Given the description of an element on the screen output the (x, y) to click on. 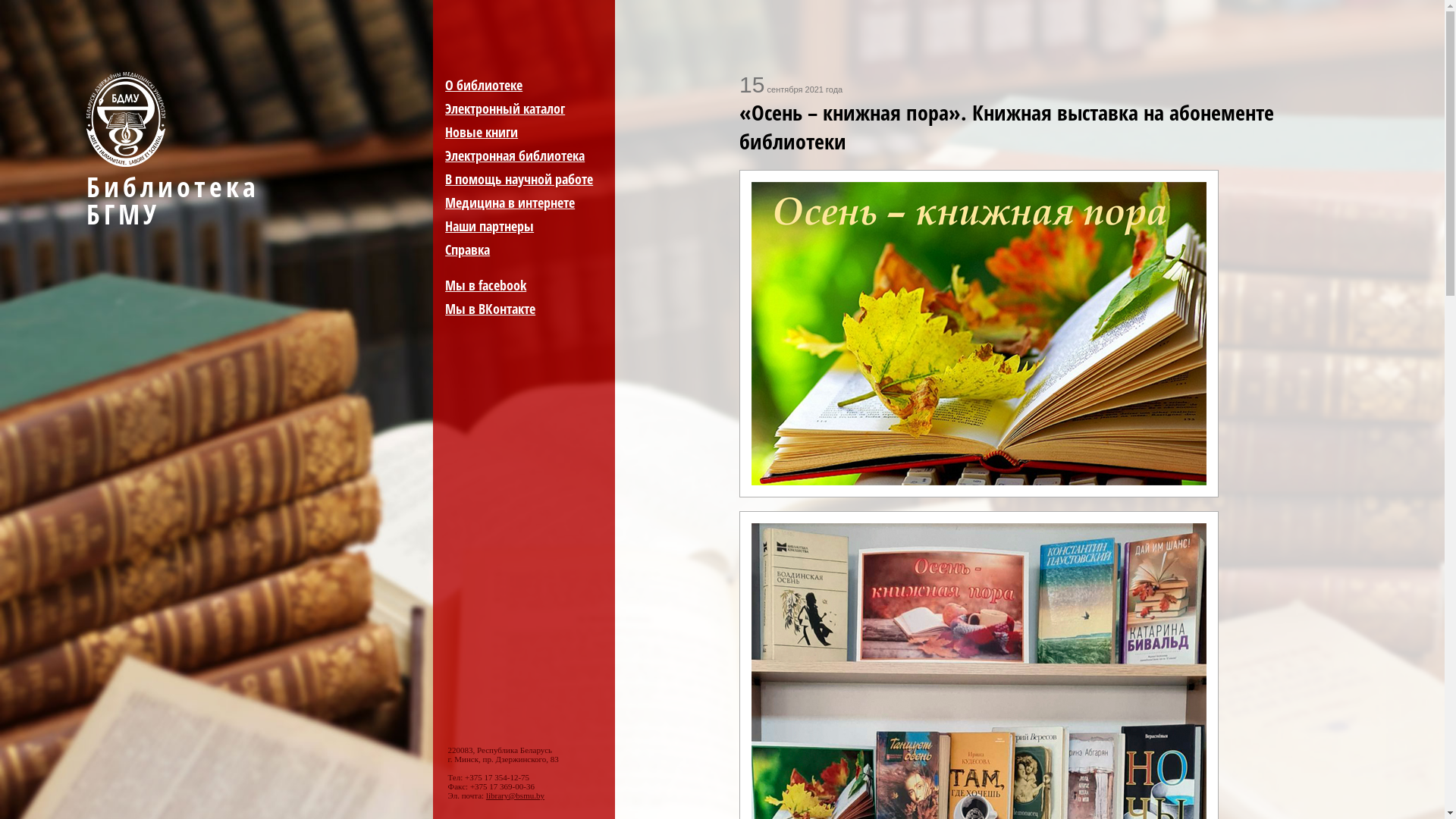
library@bsmu.by Element type: text (515, 795)
